Given the description of an element on the screen output the (x, y) to click on. 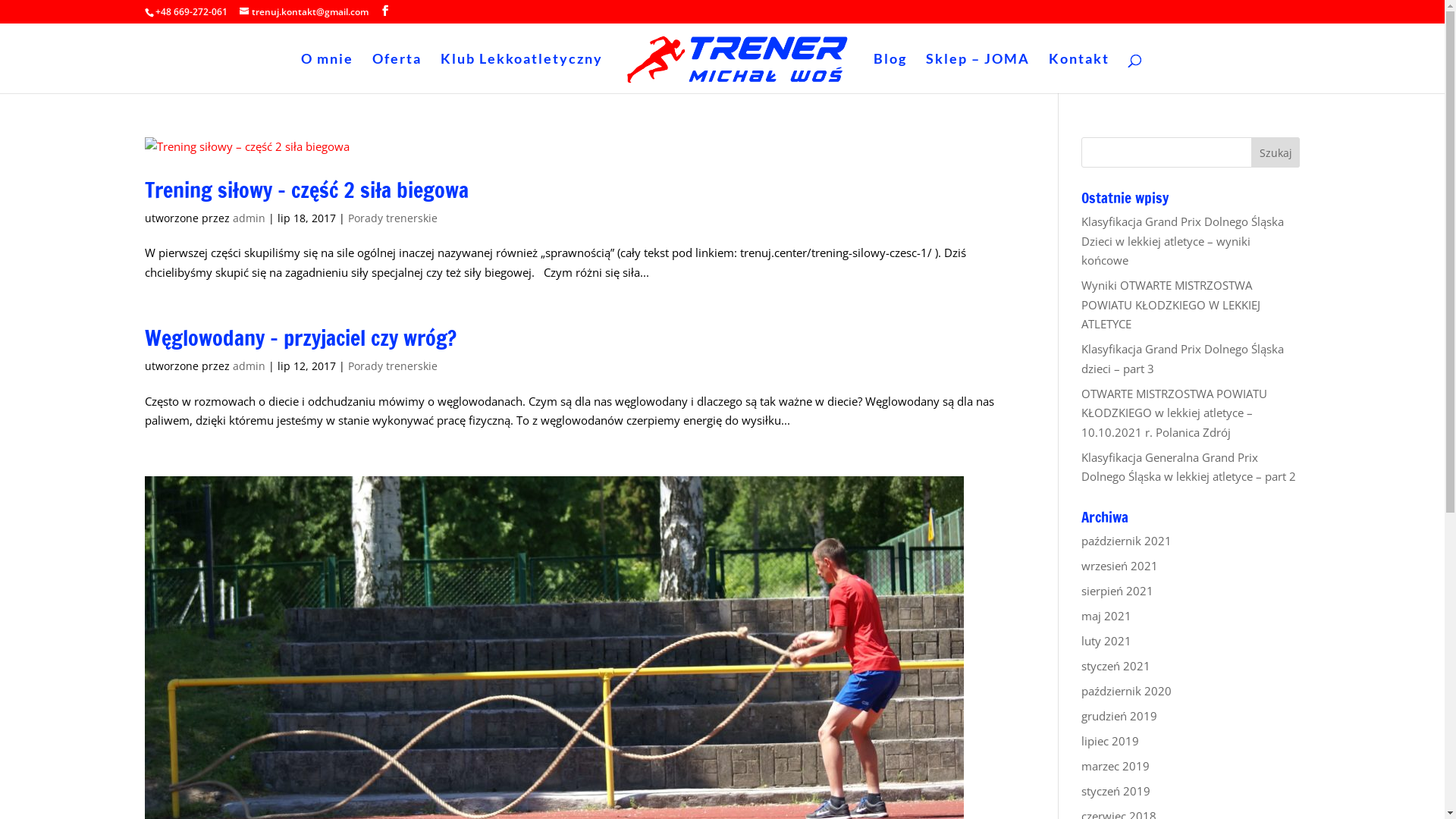
luty 2021 Element type: text (1106, 639)
Porady trenerskie Element type: text (391, 217)
Porady trenerskie Element type: text (391, 365)
Oferta Element type: text (396, 73)
trenuj.kontakt@gmail.com Element type: text (303, 11)
Kontakt Element type: text (1078, 73)
maj 2021 Element type: text (1106, 615)
Klub Lekkoatletyczny Element type: text (521, 73)
marzec 2019 Element type: text (1115, 765)
Blog Element type: text (889, 73)
lipiec 2019 Element type: text (1110, 739)
+48 669-272-061 Element type: text (190, 11)
Szukaj Element type: text (1275, 152)
admin Element type: text (248, 365)
admin Element type: text (248, 217)
O mnie Element type: text (327, 73)
